Given the description of an element on the screen output the (x, y) to click on. 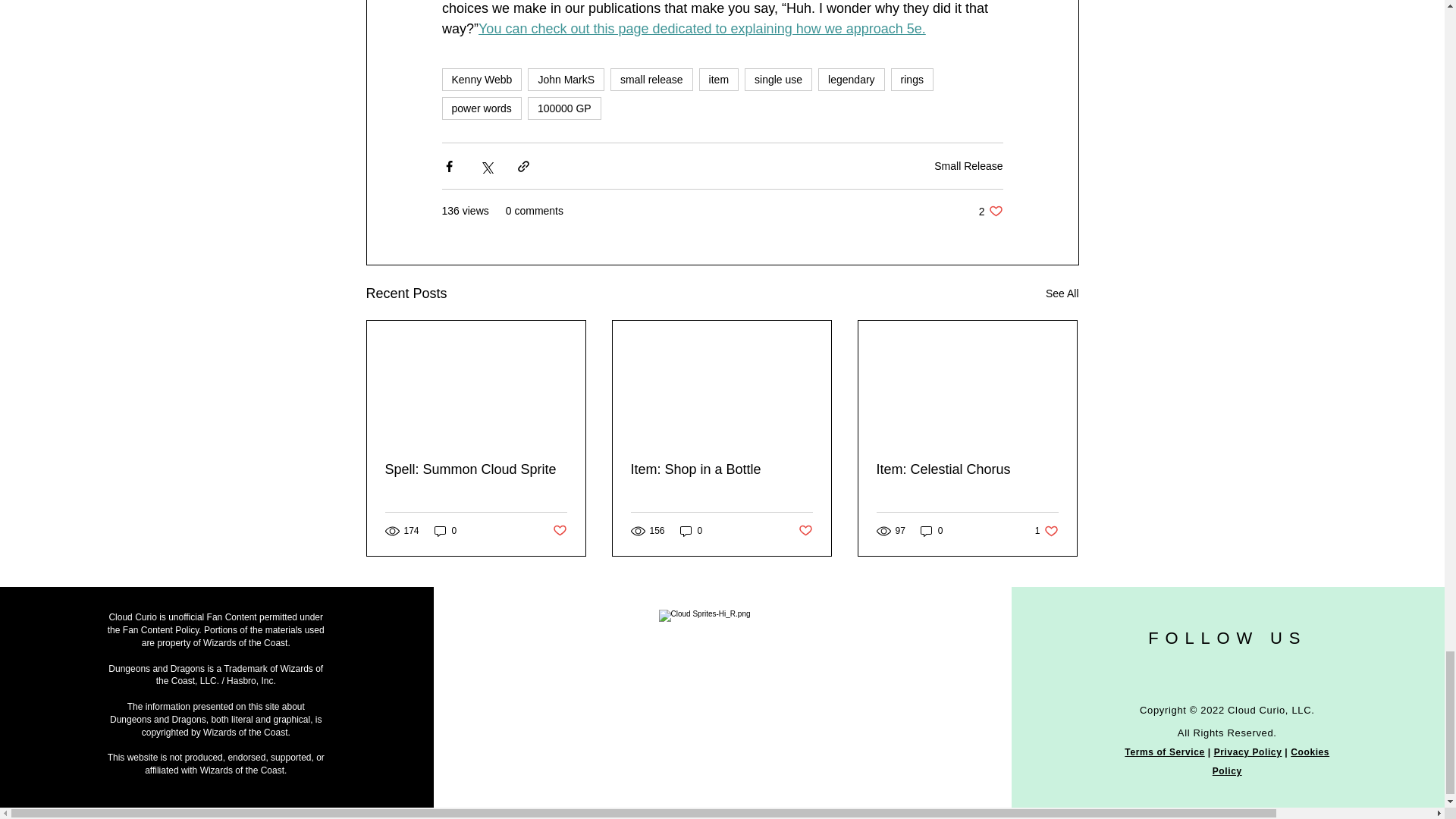
item (718, 78)
rings (912, 78)
100000 GP (564, 108)
power words (481, 108)
John MarkS (565, 78)
small release (651, 78)
legendary (851, 78)
single use (778, 78)
Kenny Webb (481, 78)
